Given the description of an element on the screen output the (x, y) to click on. 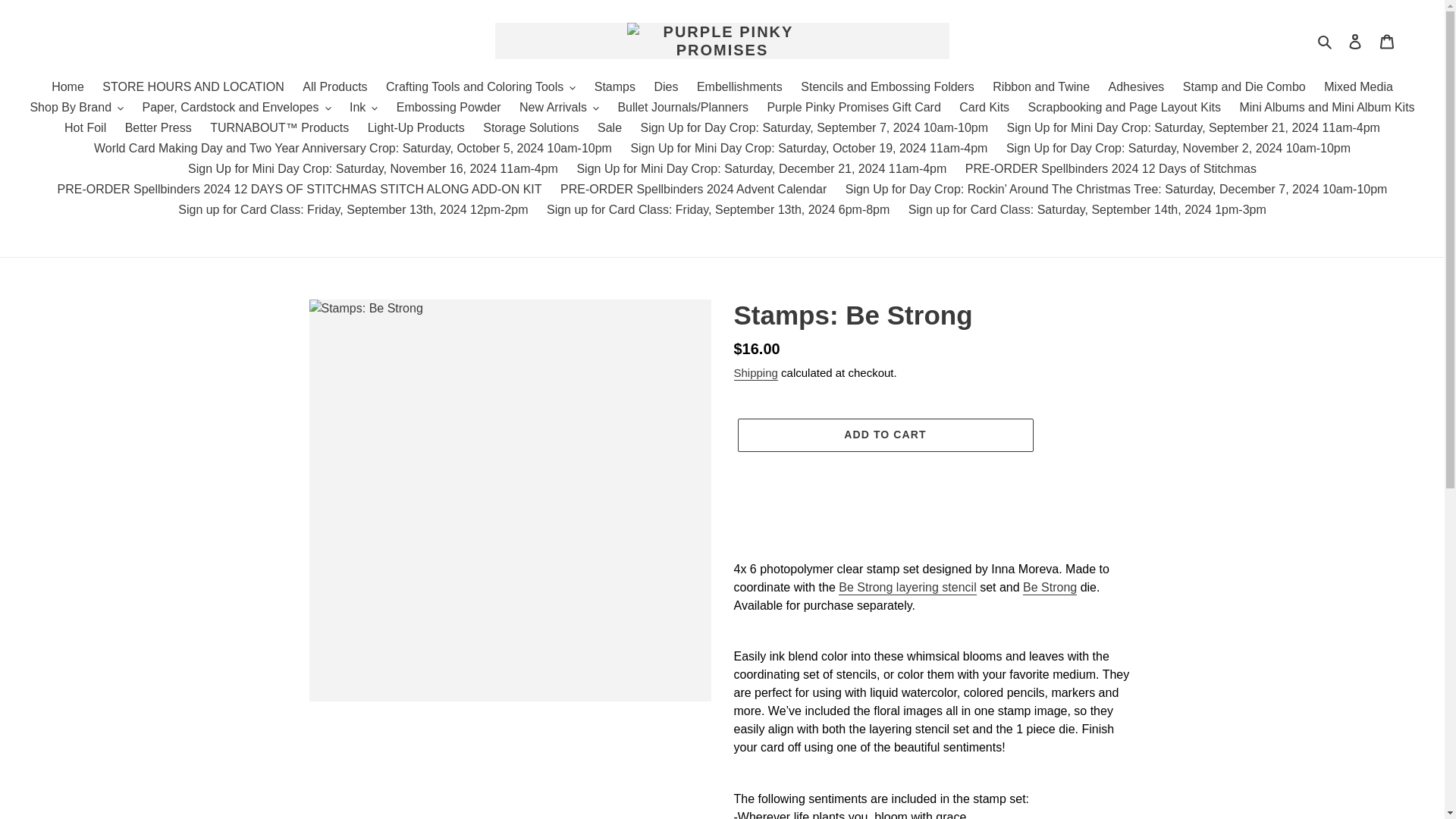
Log in (1355, 40)
Search (1326, 40)
Cart (1387, 40)
